Given the description of an element on the screen output the (x, y) to click on. 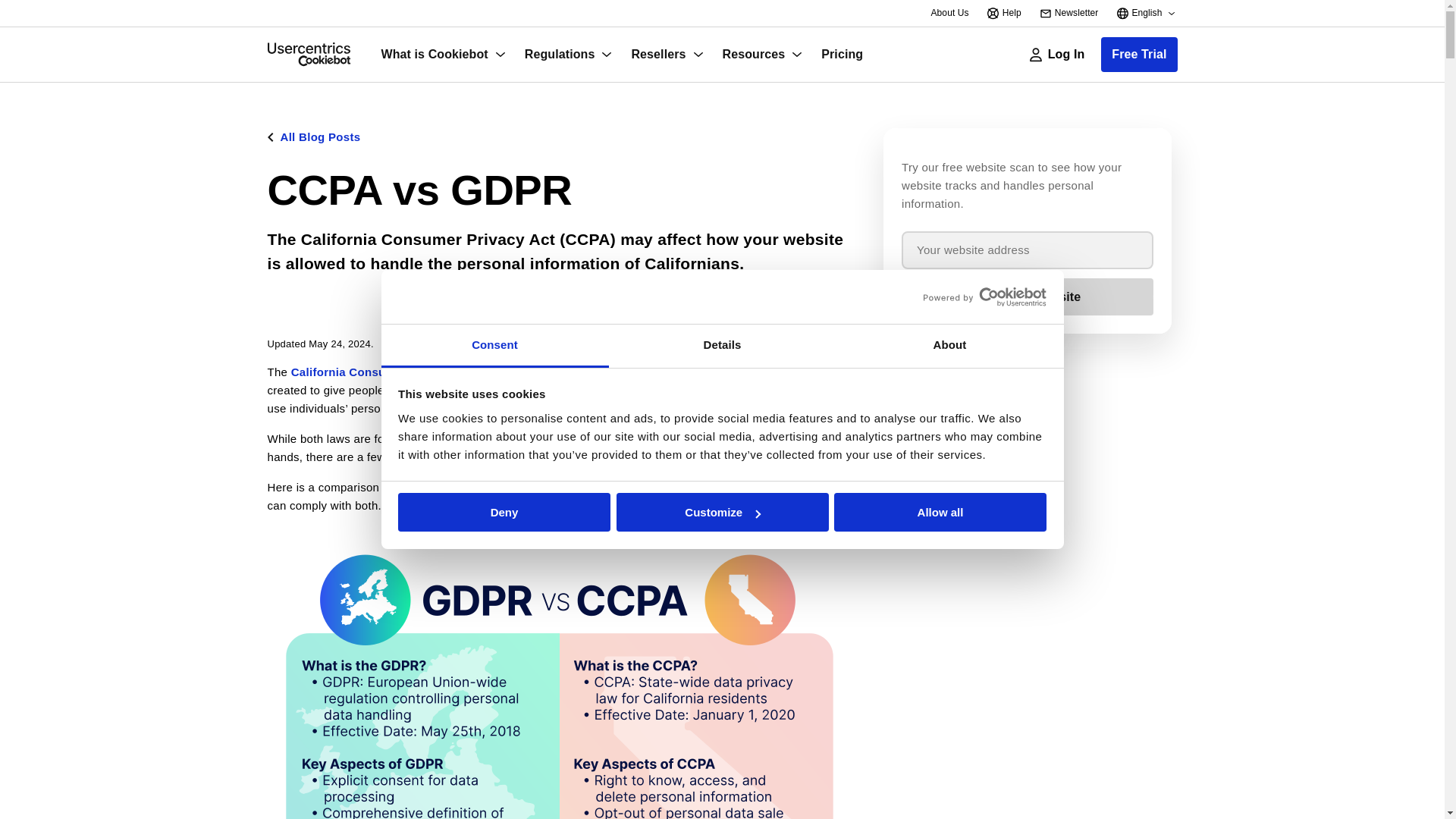
Consent (494, 345)
About (948, 345)
Details (721, 345)
